Given the description of an element on the screen output the (x, y) to click on. 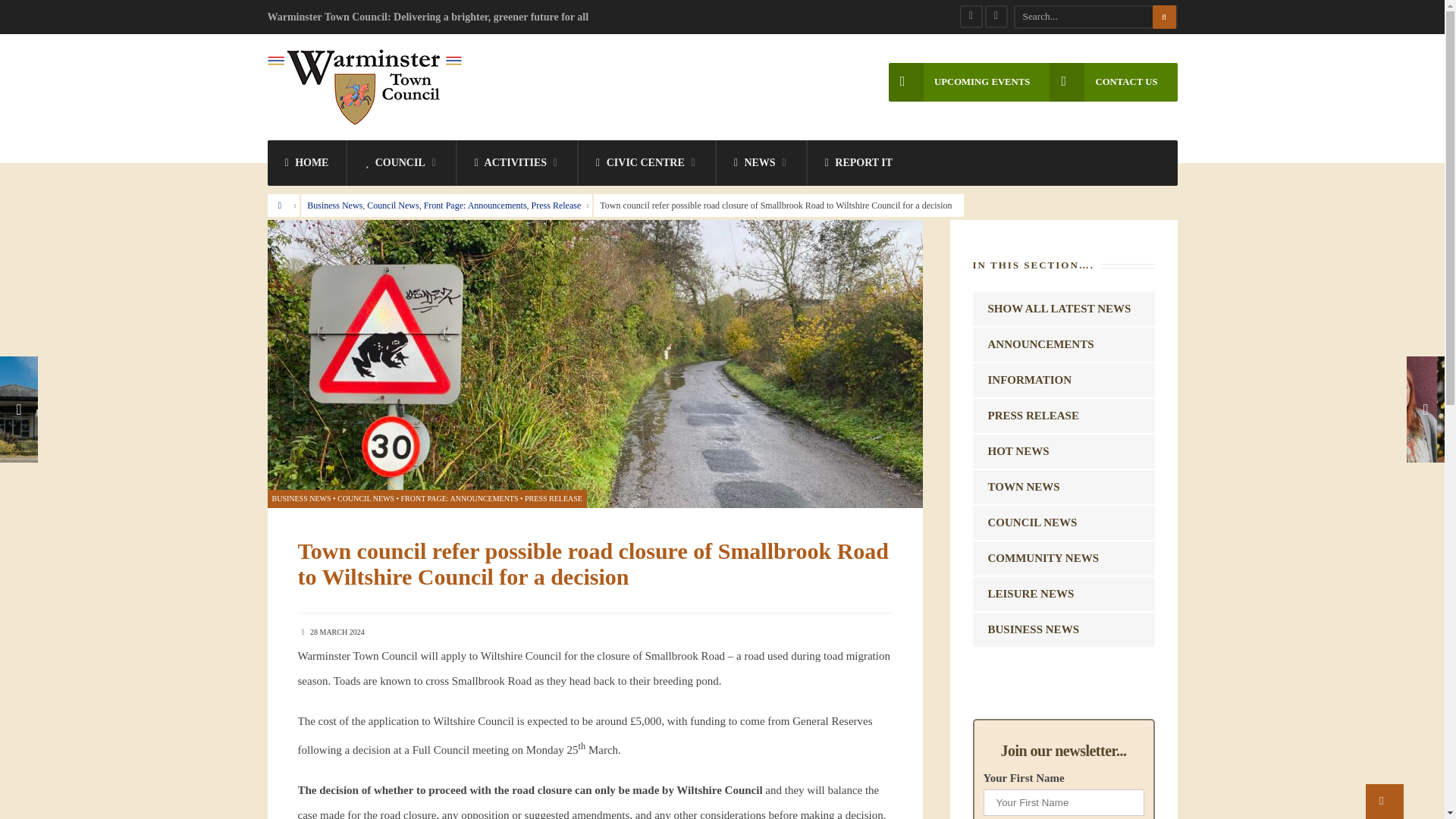
COUNCIL (401, 162)
Search... (1094, 15)
Facebook (970, 15)
ACTIVITIES (516, 162)
HOME (307, 162)
Instagram (995, 15)
